Given the description of an element on the screen output the (x, y) to click on. 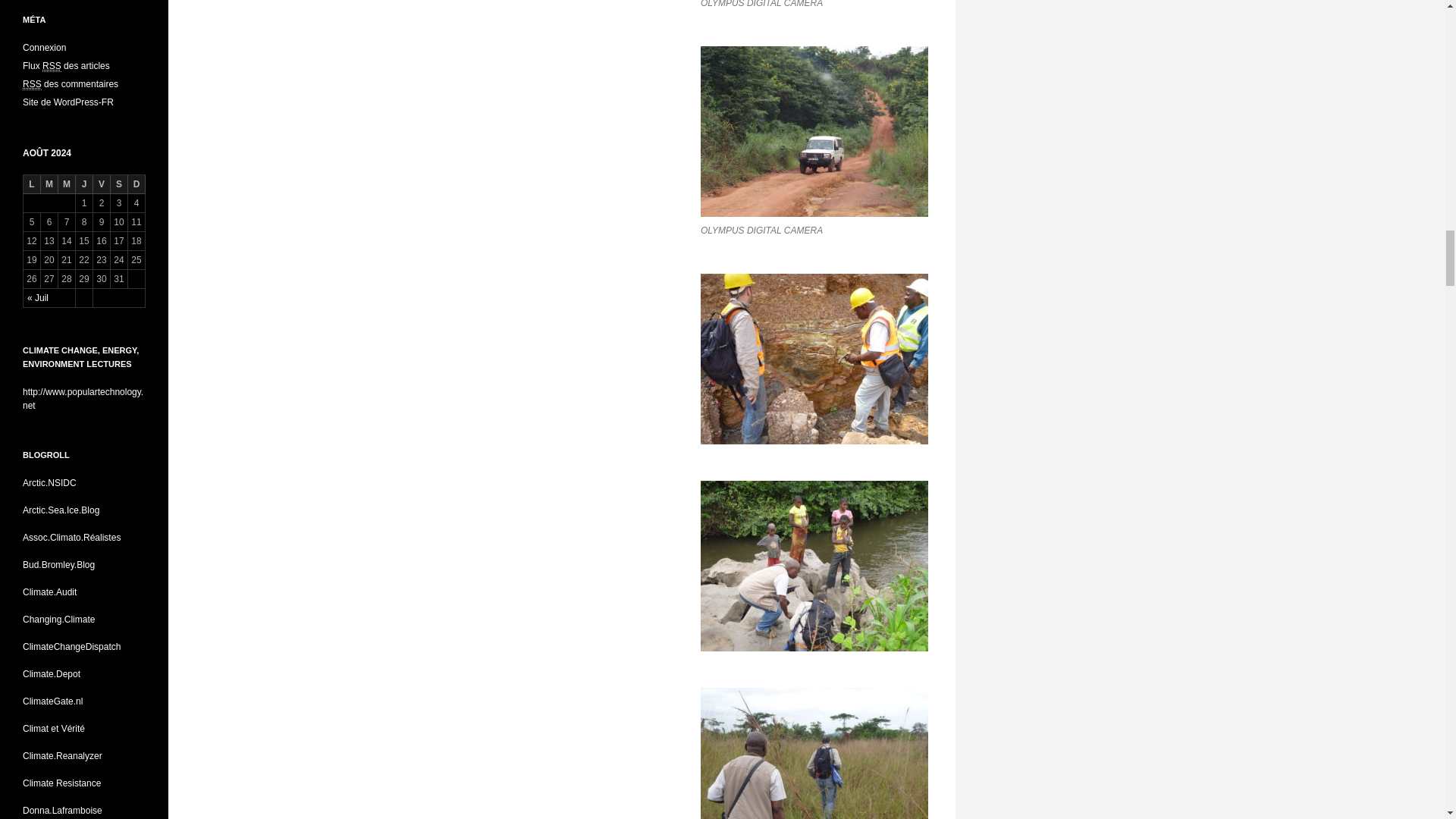
lundi (31, 184)
vendredi (101, 184)
Really Simple Syndication (32, 84)
Really Simple Syndication (51, 66)
mercredi (66, 184)
jeudi (84, 184)
samedi (119, 184)
dimanche (136, 184)
mardi (49, 184)
